Given the description of an element on the screen output the (x, y) to click on. 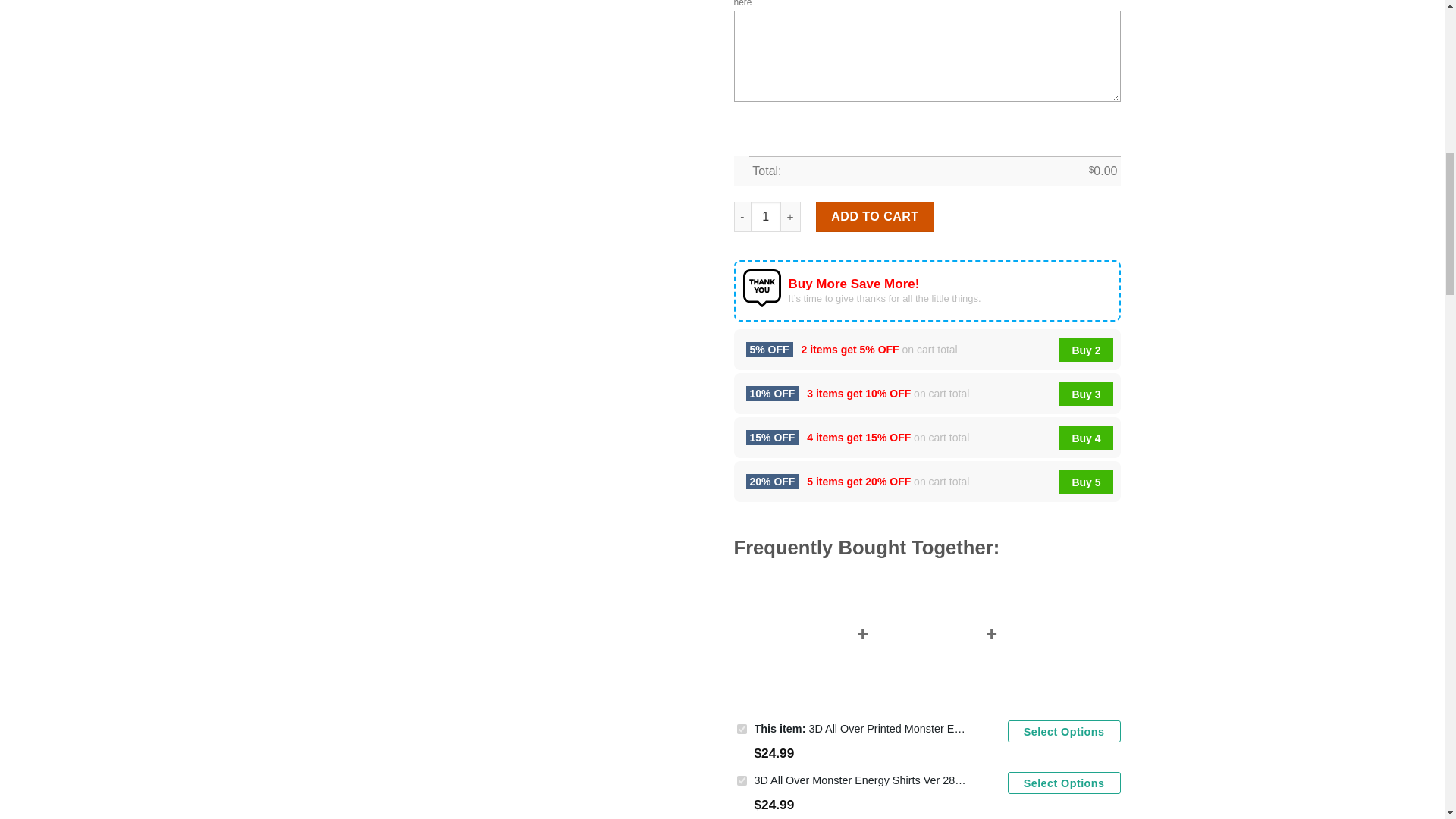
1 (765, 216)
23587 (741, 728)
23441 (741, 780)
